Given the description of an element on the screen output the (x, y) to click on. 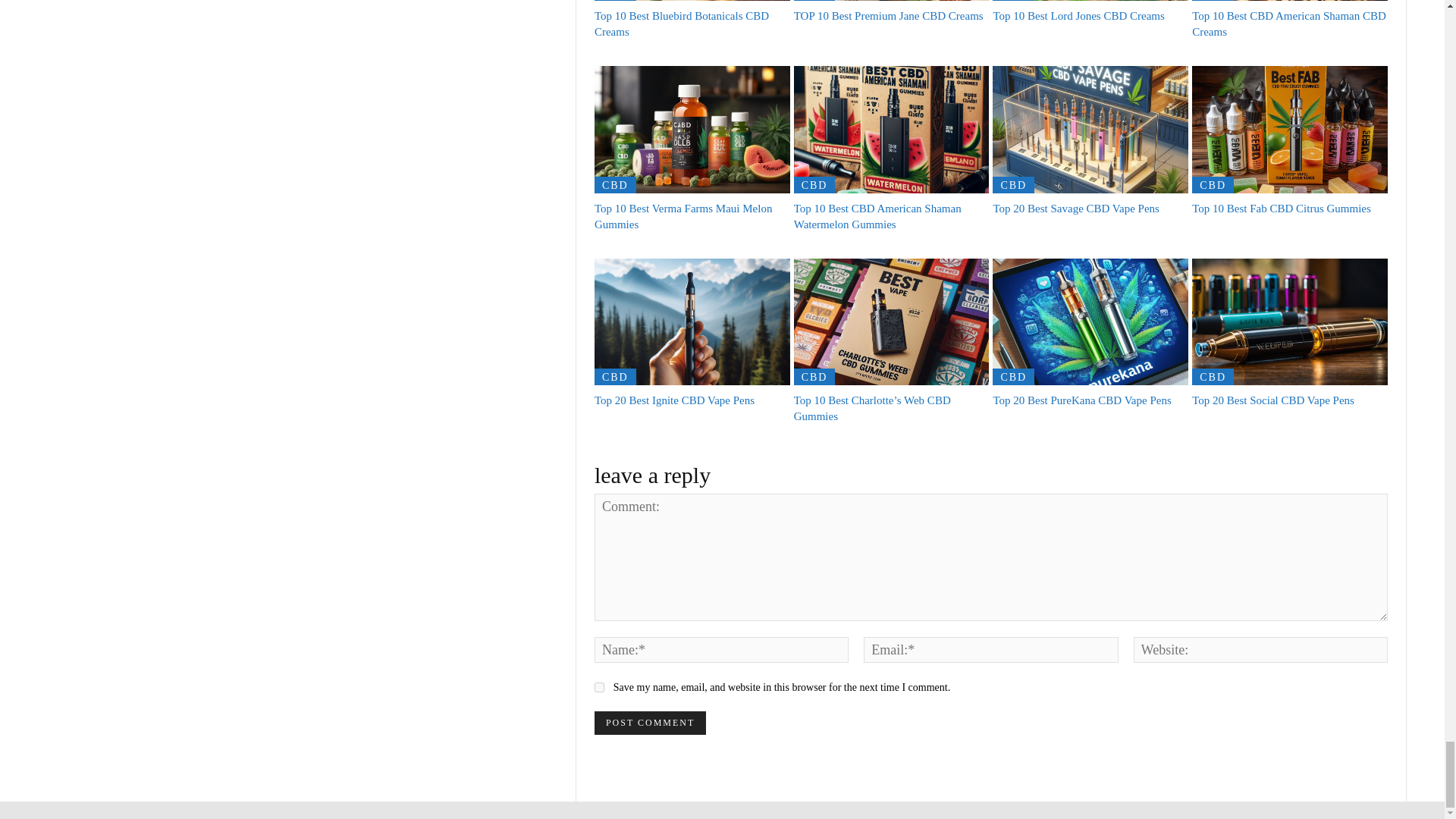
yes (599, 687)
Post Comment (650, 722)
